Given the description of an element on the screen output the (x, y) to click on. 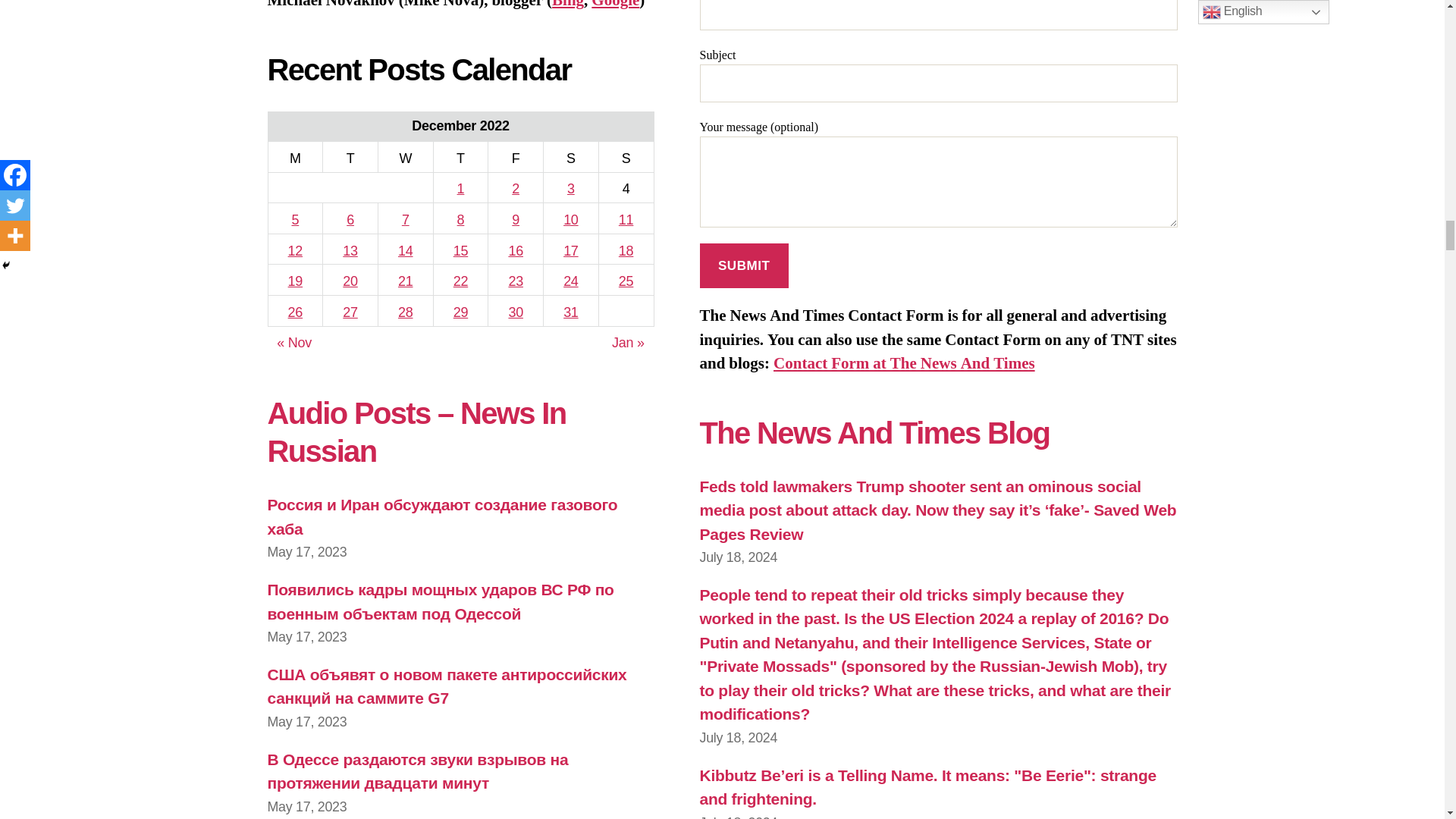
Sunday (625, 155)
Thursday (459, 155)
Saturday (570, 155)
Submit (743, 265)
Monday (295, 155)
Wednesday (404, 155)
Tuesday (350, 155)
Friday (515, 155)
